Given the description of an element on the screen output the (x, y) to click on. 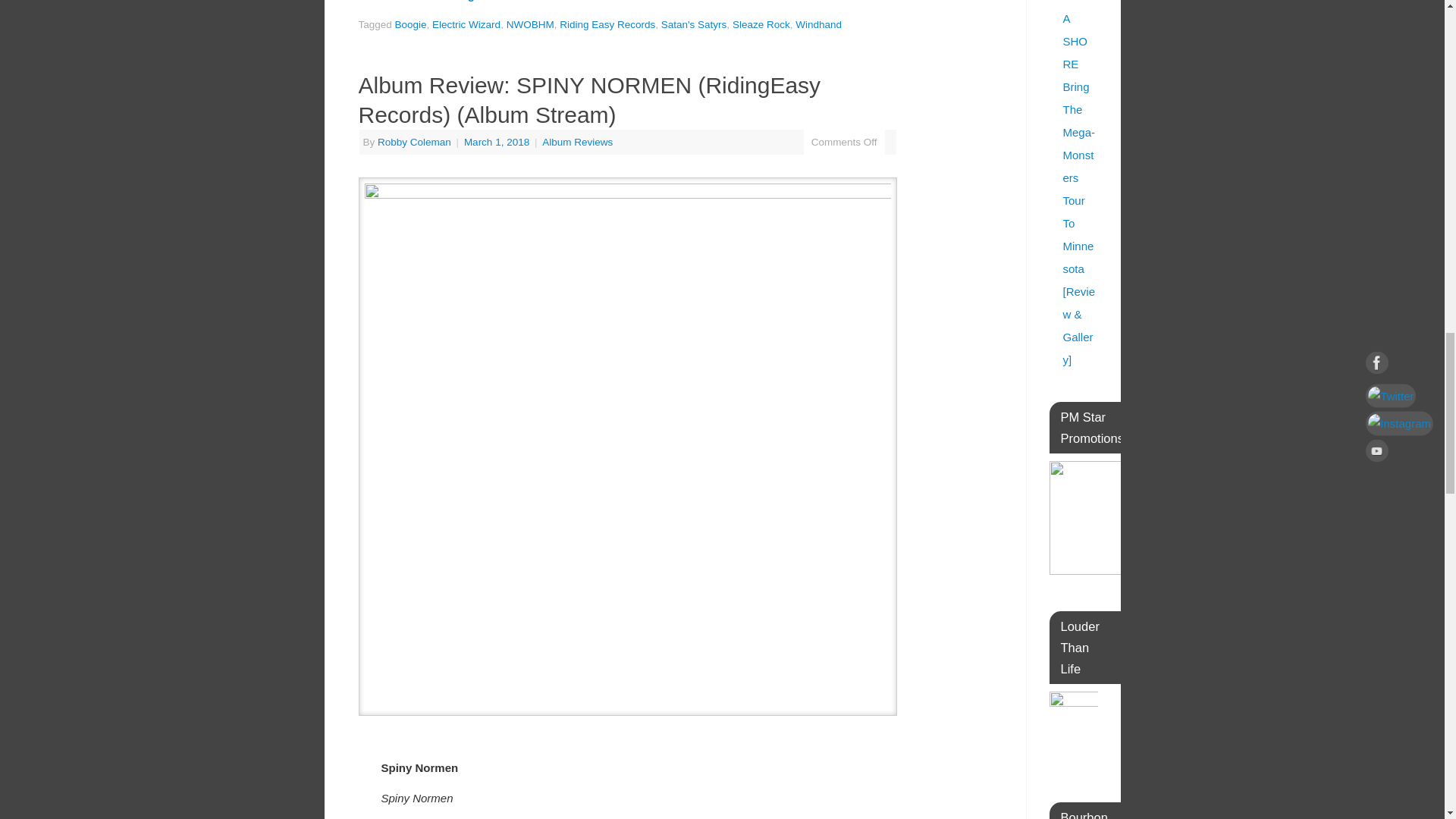
View all posts by Robby Coleman (414, 142)
1:54 am (498, 142)
